Given the description of an element on the screen output the (x, y) to click on. 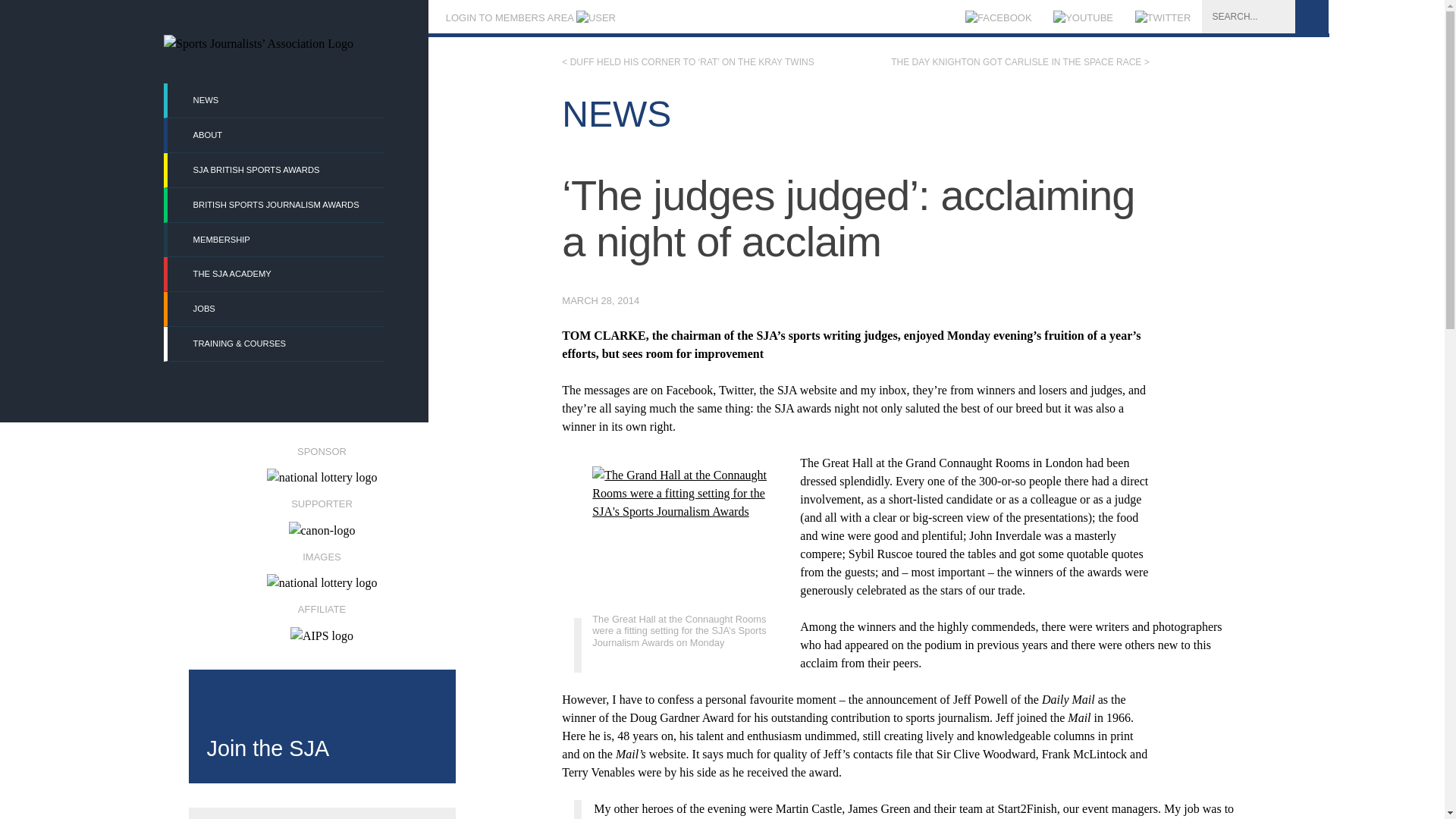
AIPS page (320, 617)
LOGIN TO MEMBERS AREA (529, 18)
NEWS (275, 100)
SJA BRITISH SPORTS AWARDS (275, 170)
BRITISH SPORTS JOURNALISM AWARDS (275, 204)
JOBS (275, 308)
MARCH 28, 2014 (600, 300)
Facebook (998, 18)
ABOUT (275, 134)
THE SJA ACADEMY (275, 274)
